Given the description of an element on the screen output the (x, y) to click on. 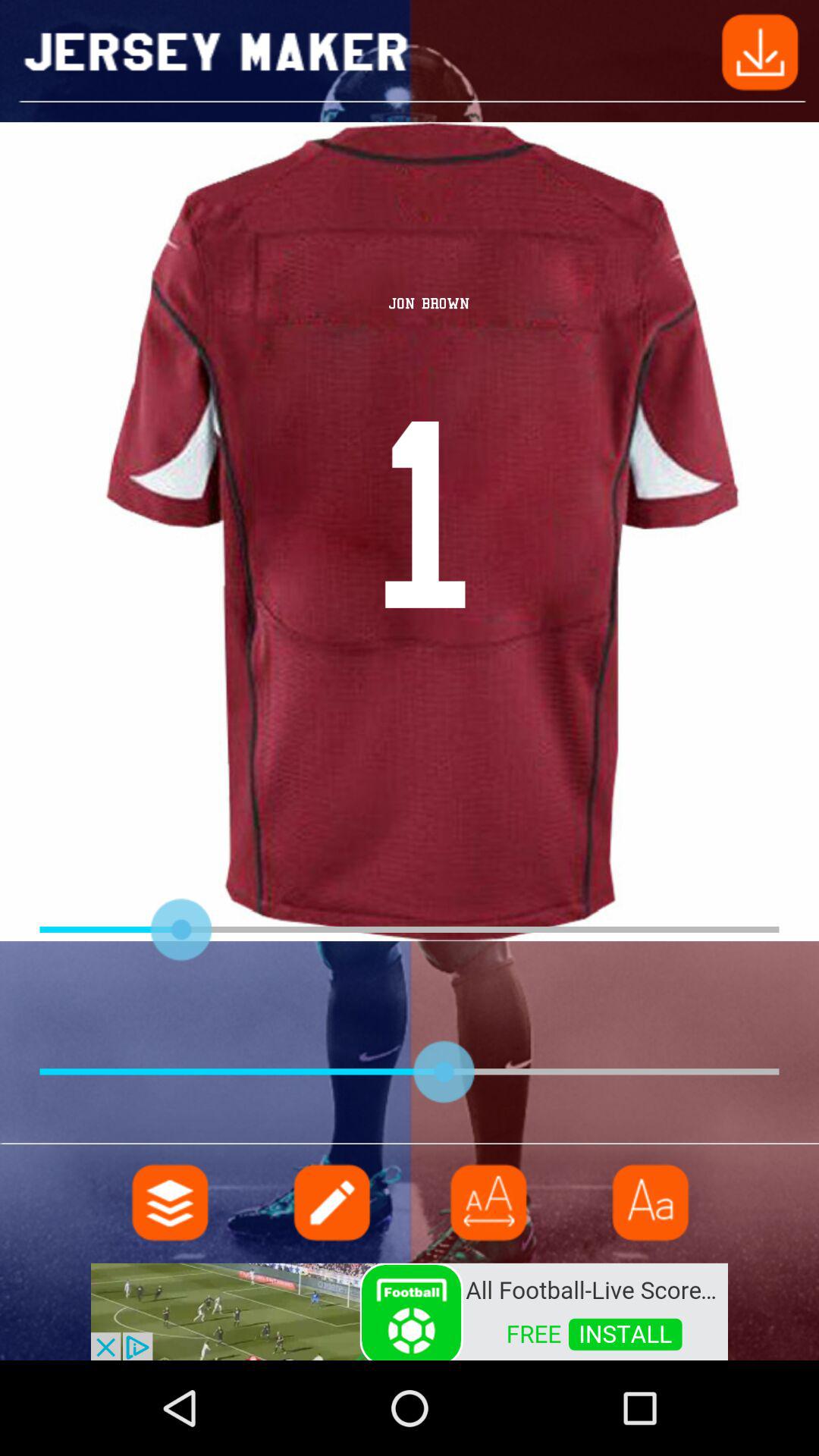
downloading button (759, 50)
